Given the description of an element on the screen output the (x, y) to click on. 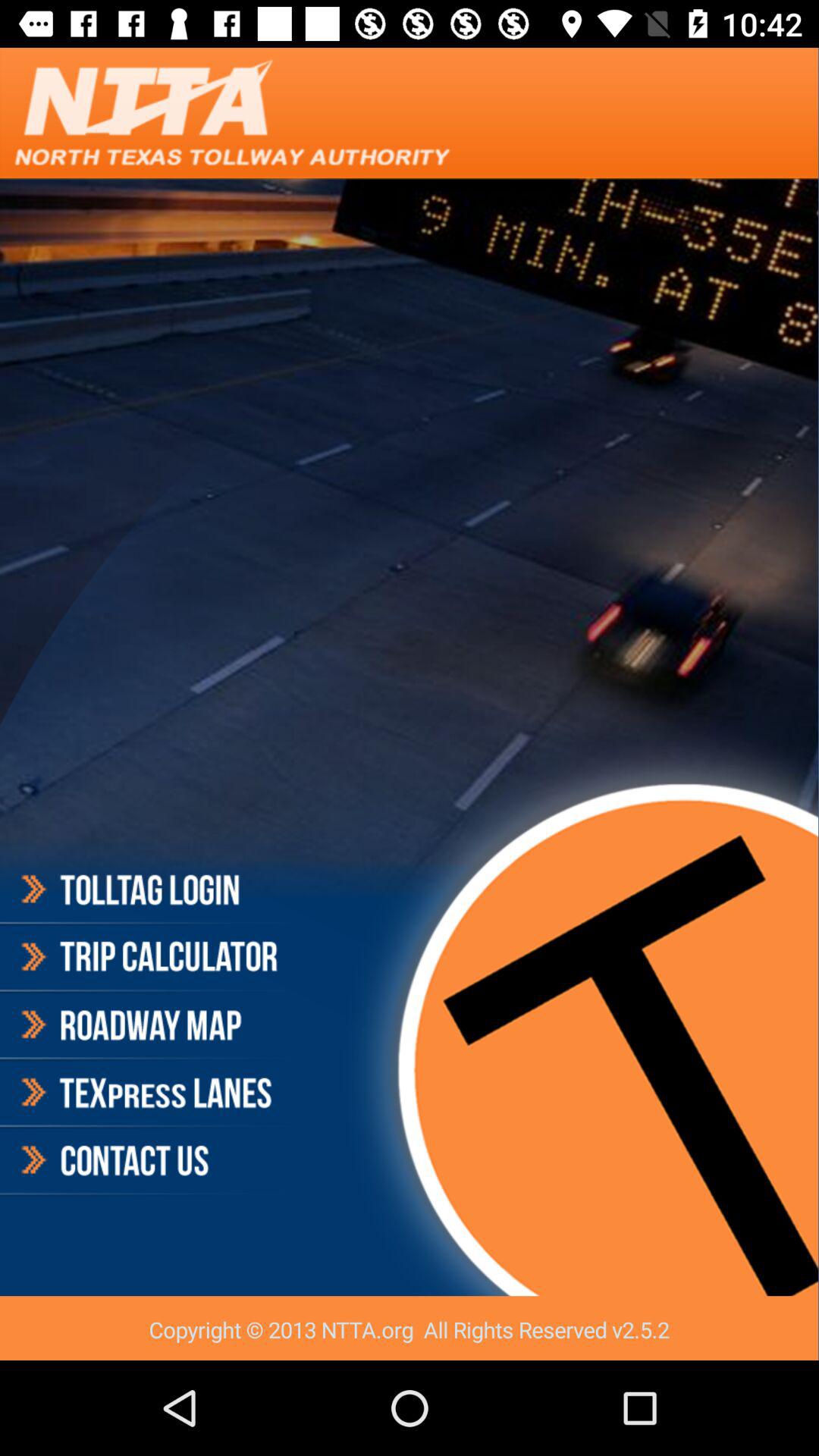
view map (147, 1025)
